Given the description of an element on the screen output the (x, y) to click on. 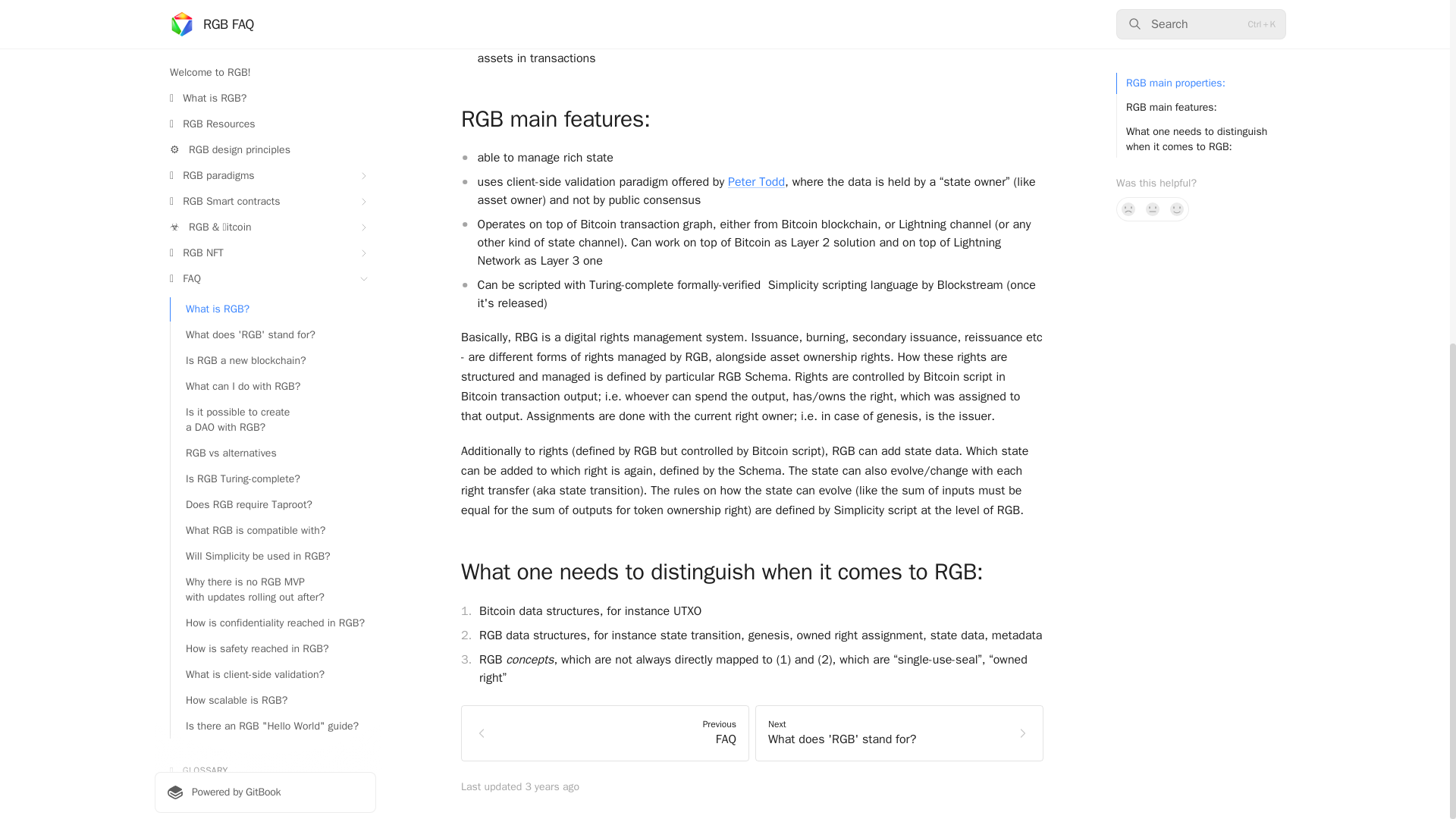
How is safety reached in RGB? (272, 57)
Why there is no RGB MVP with updates rolling out after? (272, 9)
How is confidentiality reached in RGB? (272, 32)
